Given the description of an element on the screen output the (x, y) to click on. 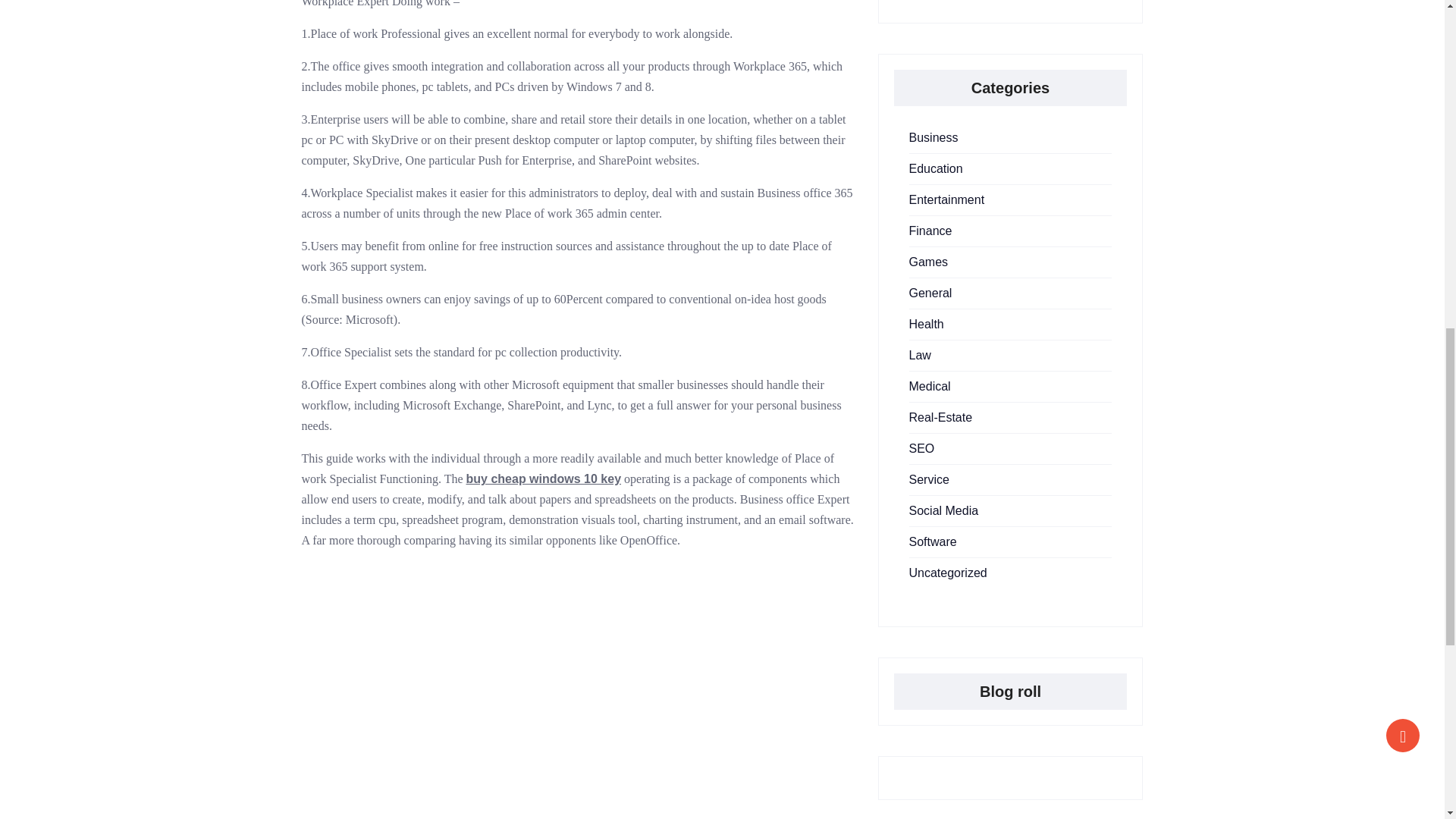
buy cheap windows 10 key (543, 478)
Games (927, 261)
Business (933, 137)
Medical (929, 386)
Uncategorized (947, 572)
General (930, 292)
Real-Estate (940, 417)
Finance (930, 230)
Education (935, 168)
Software (932, 541)
